Given the description of an element on the screen output the (x, y) to click on. 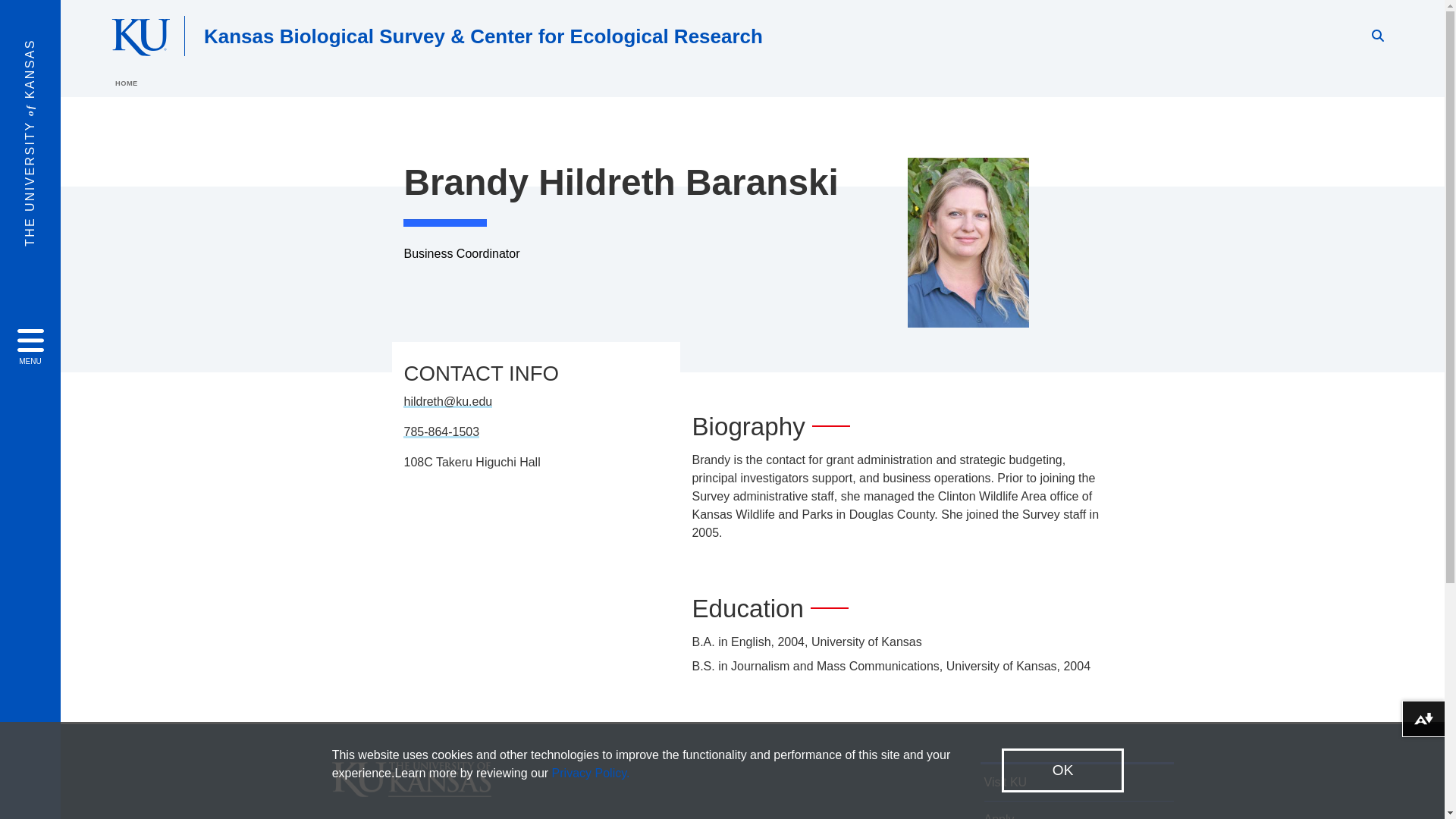
Call 785-864-1503 (441, 431)
OK (1062, 770)
The University of Kansas (411, 789)
Privacy Policy. (590, 772)
